Given the description of an element on the screen output the (x, y) to click on. 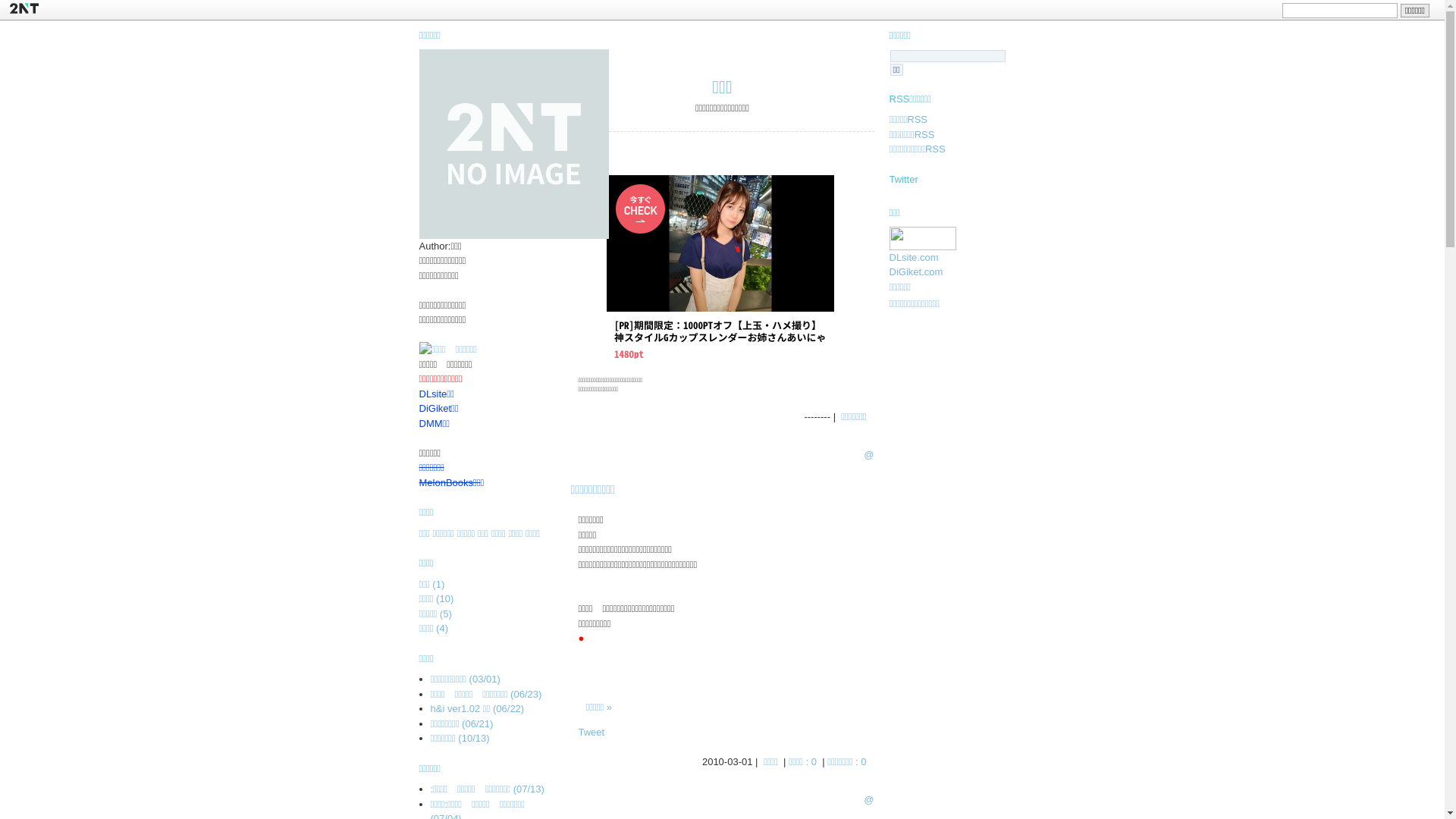
DLsite.com Element type: text (913, 257)
DiGiket.com Element type: text (915, 271)
@ Element type: text (868, 798)
@ Element type: text (868, 454)
Tweet Element type: text (590, 731)
